Given the description of an element on the screen output the (x, y) to click on. 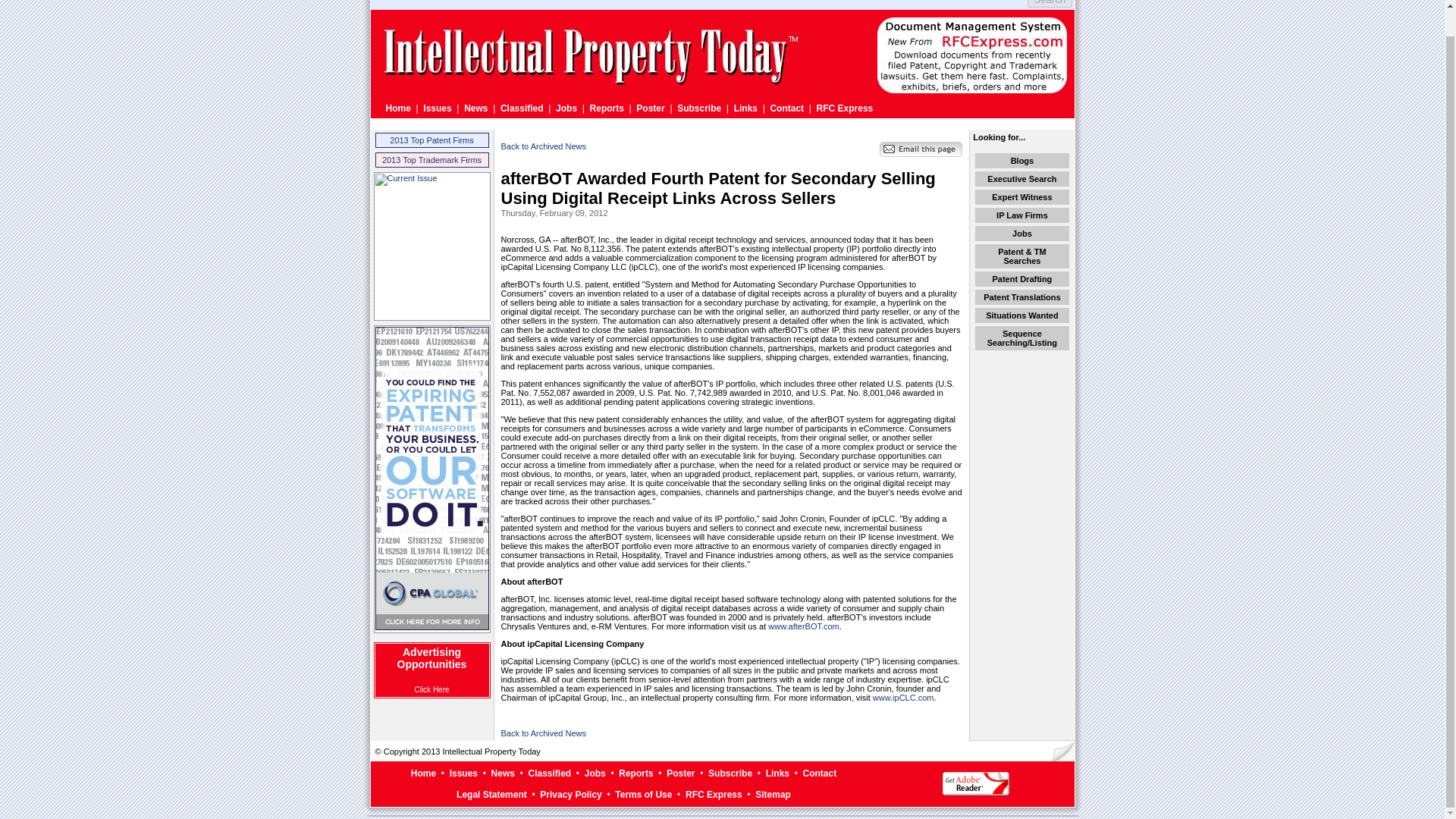
Contact (786, 108)
Classified (521, 108)
Jobs (595, 773)
News (503, 773)
News (475, 108)
Links (745, 108)
2013 Top Patent Firms (431, 139)
Issues (437, 108)
Expert Witness (1021, 196)
2013 Top Trademark Firms (431, 159)
www.afterBOT.com (804, 625)
Home (397, 108)
Patent Drafting (1021, 278)
Back to Archived News (543, 732)
IP Law Firms (1021, 215)
